Given the description of an element on the screen output the (x, y) to click on. 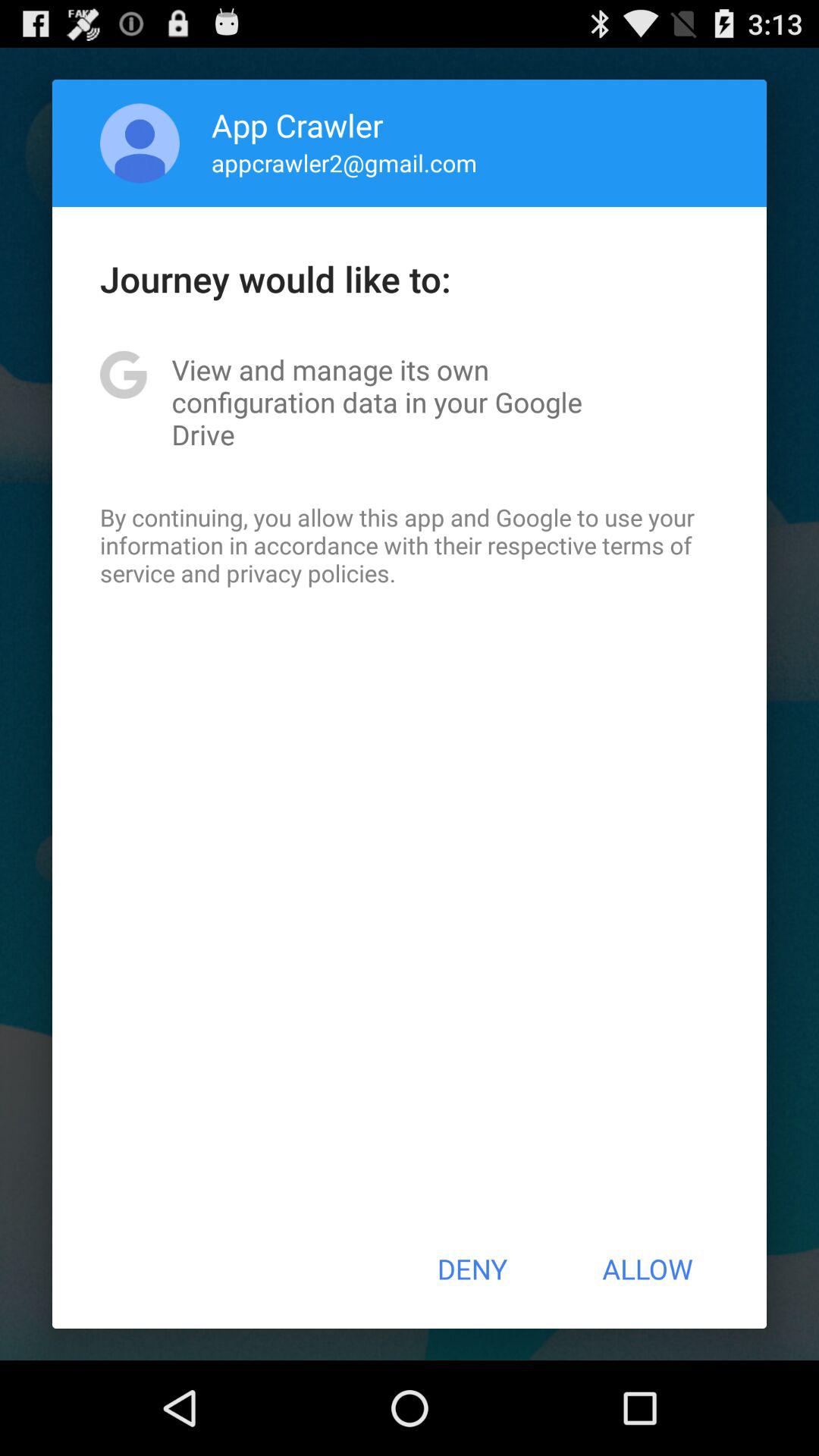
choose button next to allow (471, 1268)
